Given the description of an element on the screen output the (x, y) to click on. 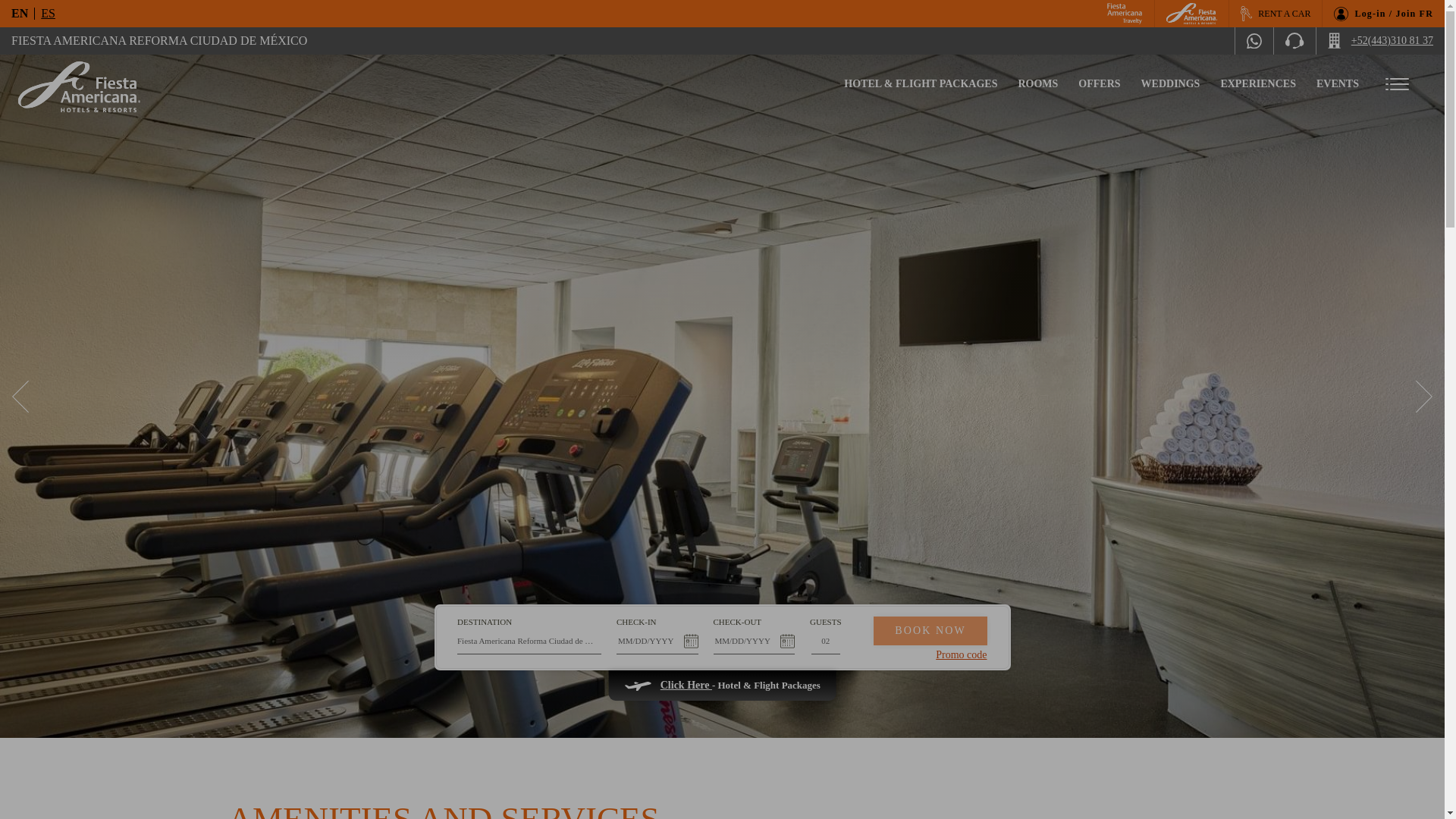
EXPERIENCES (1257, 83)
02 (825, 641)
WEDDINGS (1170, 83)
ES (47, 12)
RENT A CAR (1275, 13)
